Given the description of an element on the screen output the (x, y) to click on. 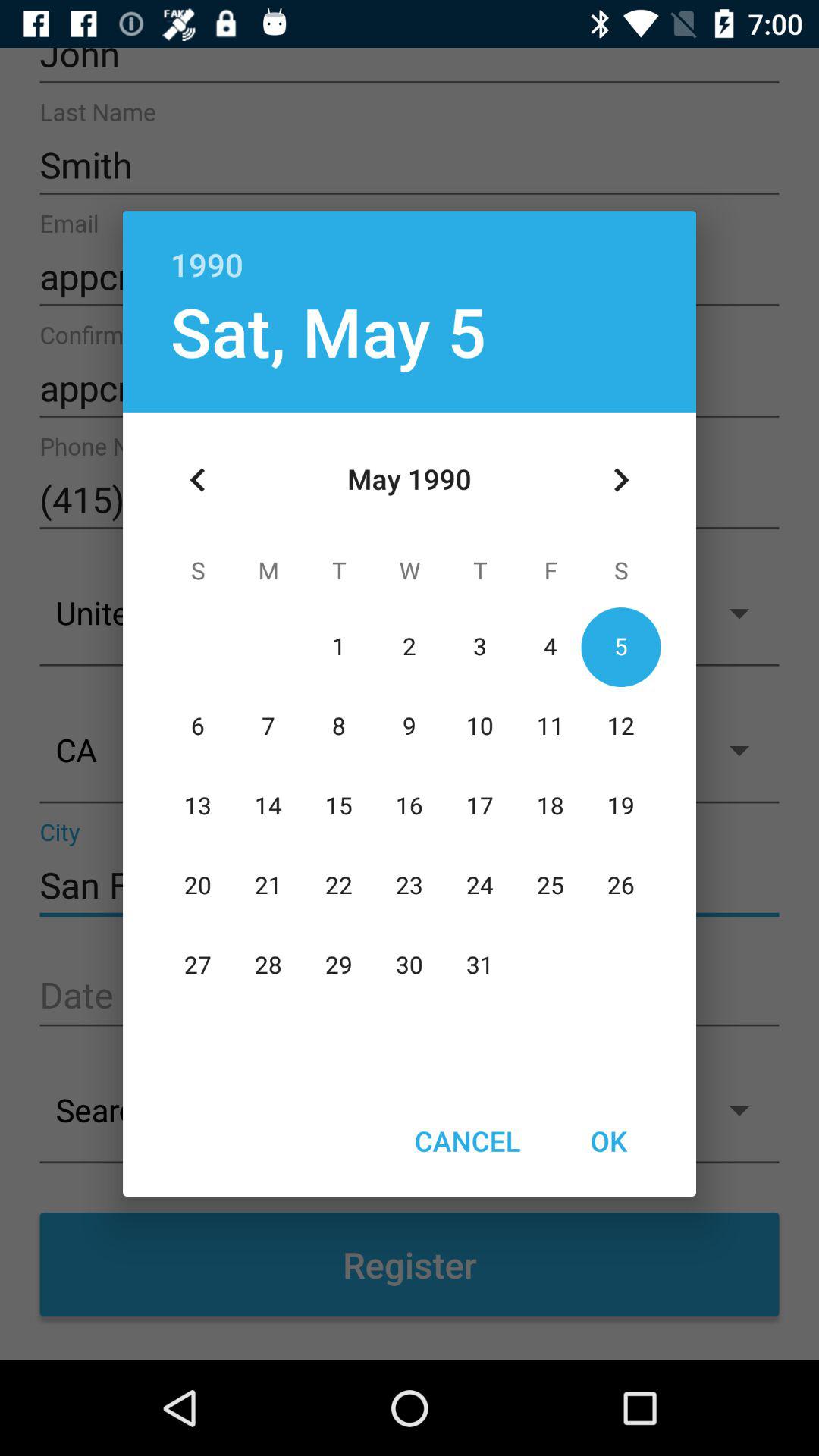
choose the icon next to ok (467, 1140)
